Given the description of an element on the screen output the (x, y) to click on. 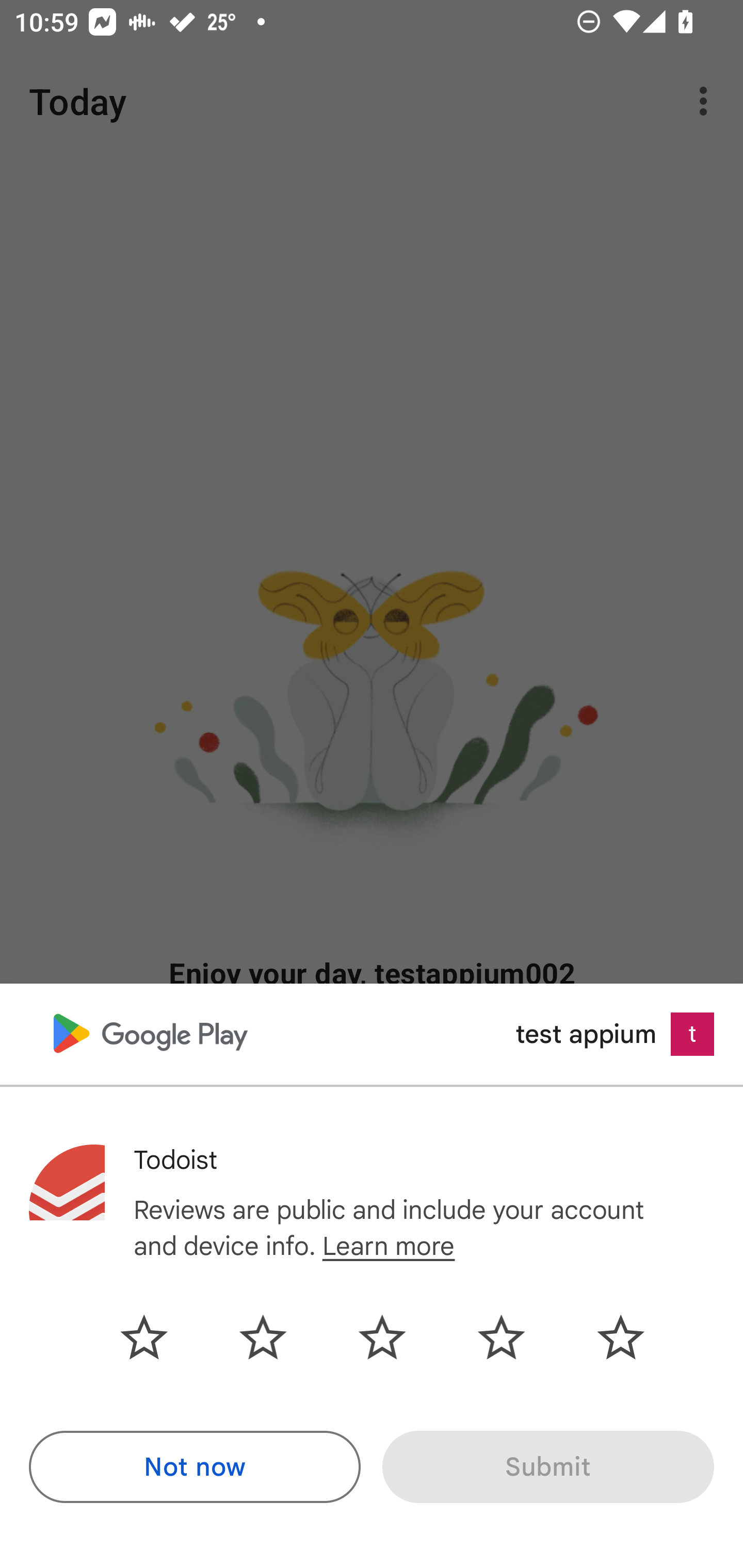
First star unselected (159, 1336)
Second star unselected (262, 1336)
Third star unselected (381, 1336)
Fourth star unselected (500, 1336)
Fifth star unselected (604, 1336)
Not now (194, 1466)
